Given the description of an element on the screen output the (x, y) to click on. 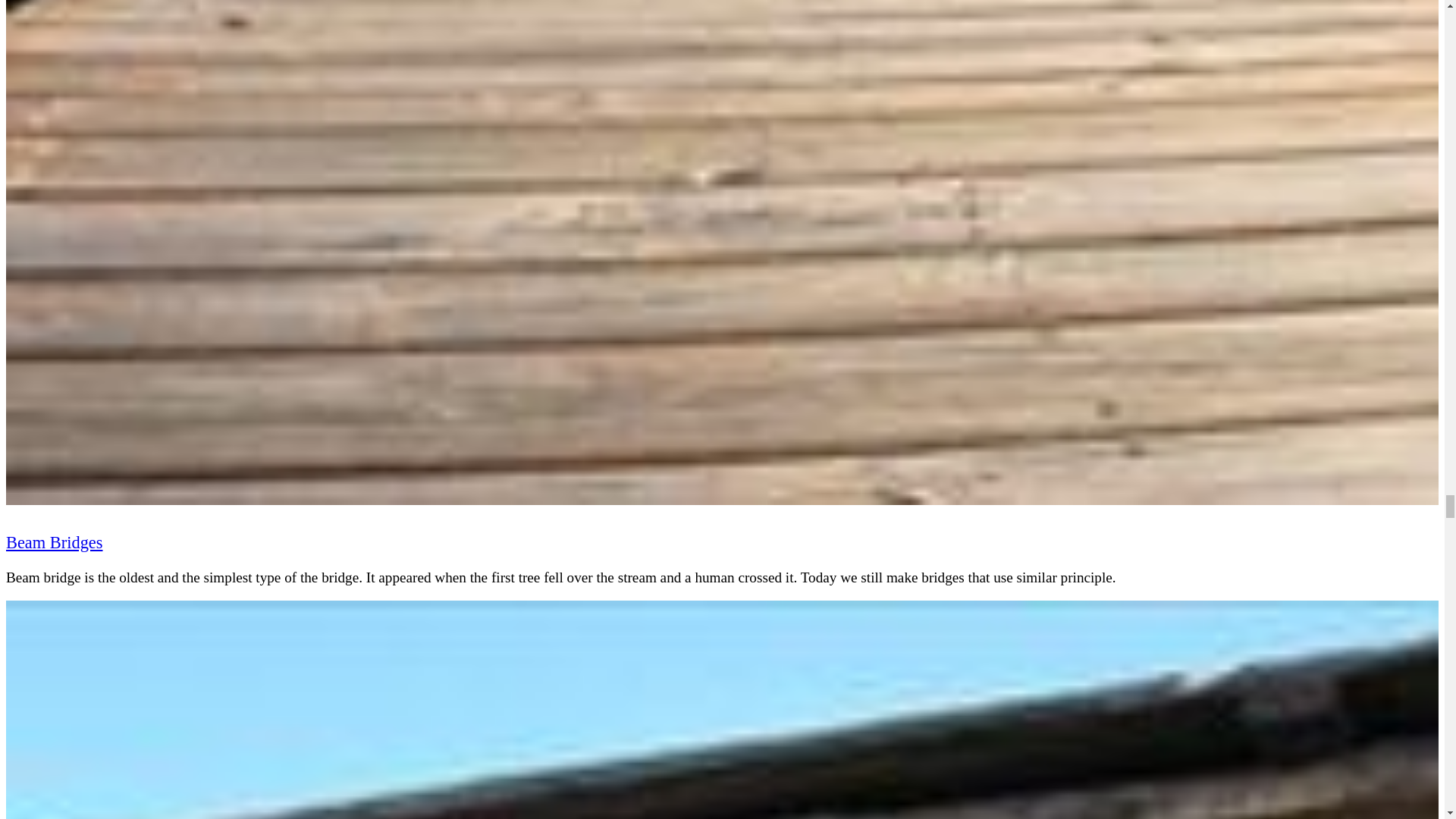
Beam Bridges (53, 541)
